Given the description of an element on the screen output the (x, y) to click on. 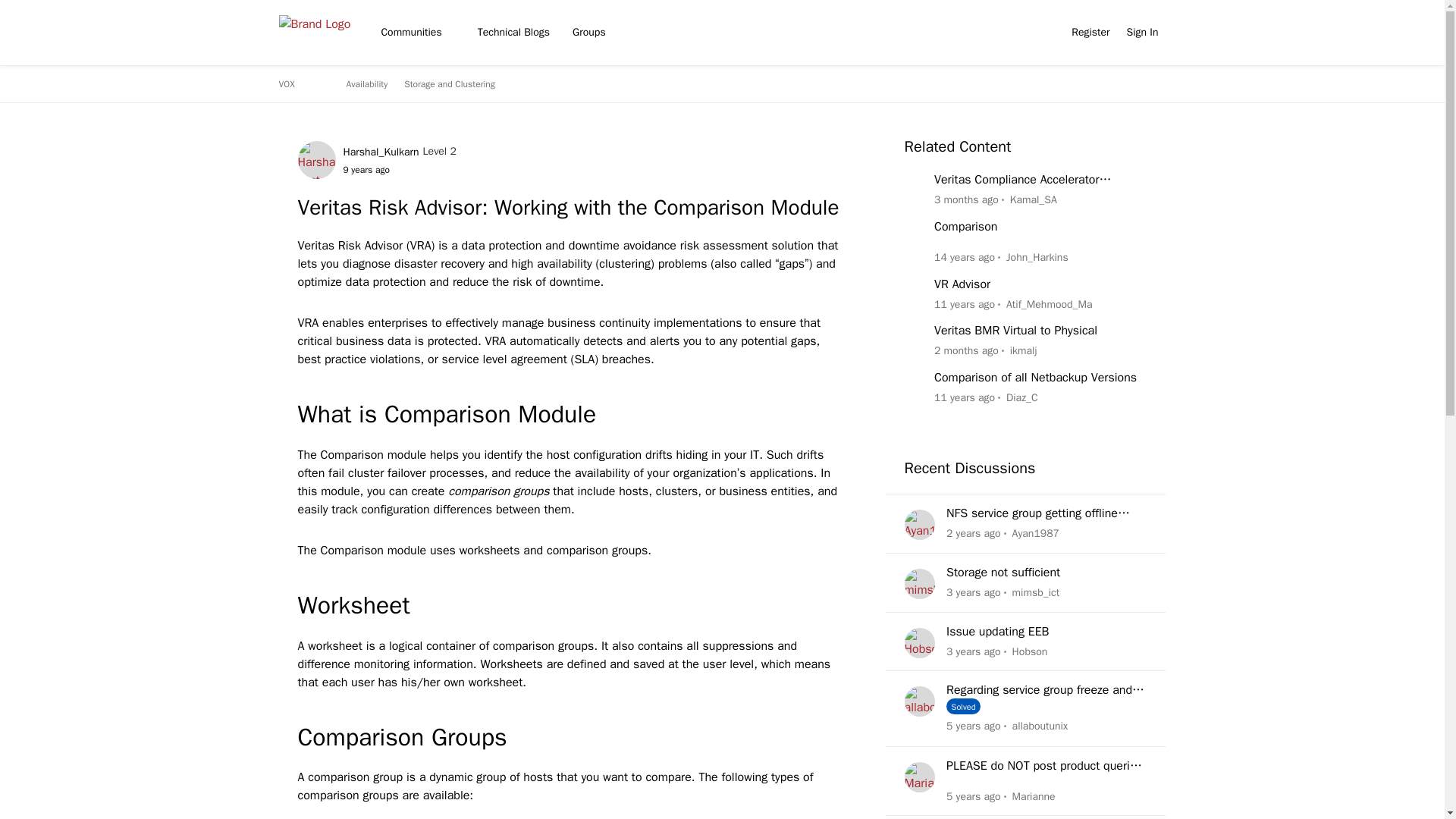
Veritas BMR Virtual to Physical (1015, 330)
Veritas Compliance Accelerator Configuration (1040, 179)
Sign In (1142, 32)
NFS service group getting offline automatically (1046, 513)
July 5, 2024 at 4:21 AM (966, 350)
Search (1045, 32)
January 19, 2022 at 5:40 PM (973, 650)
Veritas BMR Virtual to Physical (1015, 330)
Technical Blogs (513, 32)
June 19, 2014 at 8:20 AM (964, 397)
